Given the description of an element on the screen output the (x, y) to click on. 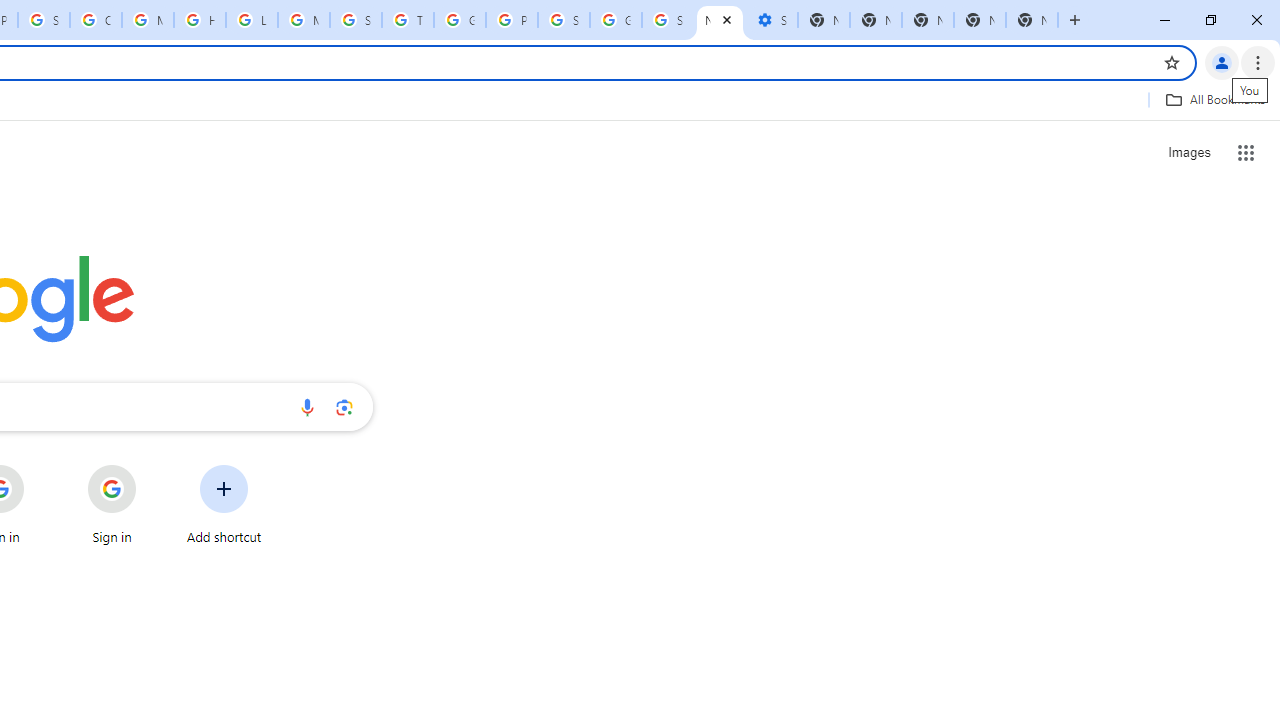
Search by voice (307, 407)
More actions for Sign in shortcut (152, 466)
Search by image (344, 407)
Sign in - Google Accounts (563, 20)
New Tab (1032, 20)
Search for Images  (1188, 152)
Trusted Information and Content - Google Safety Center (407, 20)
